Given the description of an element on the screen output the (x, y) to click on. 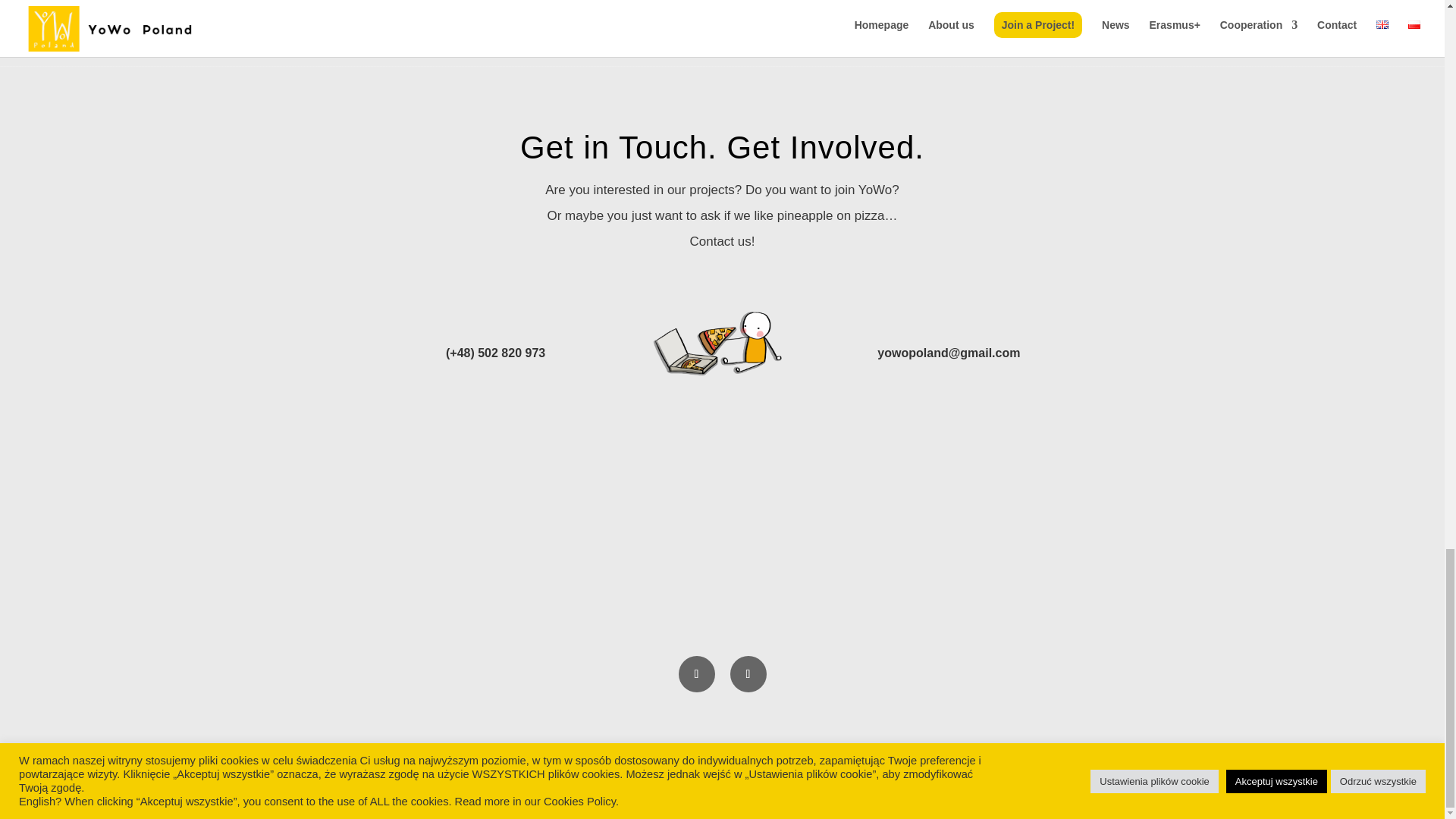
FM (807, 798)
helenayagami (687, 798)
Cookies Policy (350, 757)
Follow on Facebook (696, 674)
Reserved Area (350, 798)
Privacy Policy (443, 757)
Pizza (721, 341)
Follow on Instagram (747, 674)
